Given the description of an element on the screen output the (x, y) to click on. 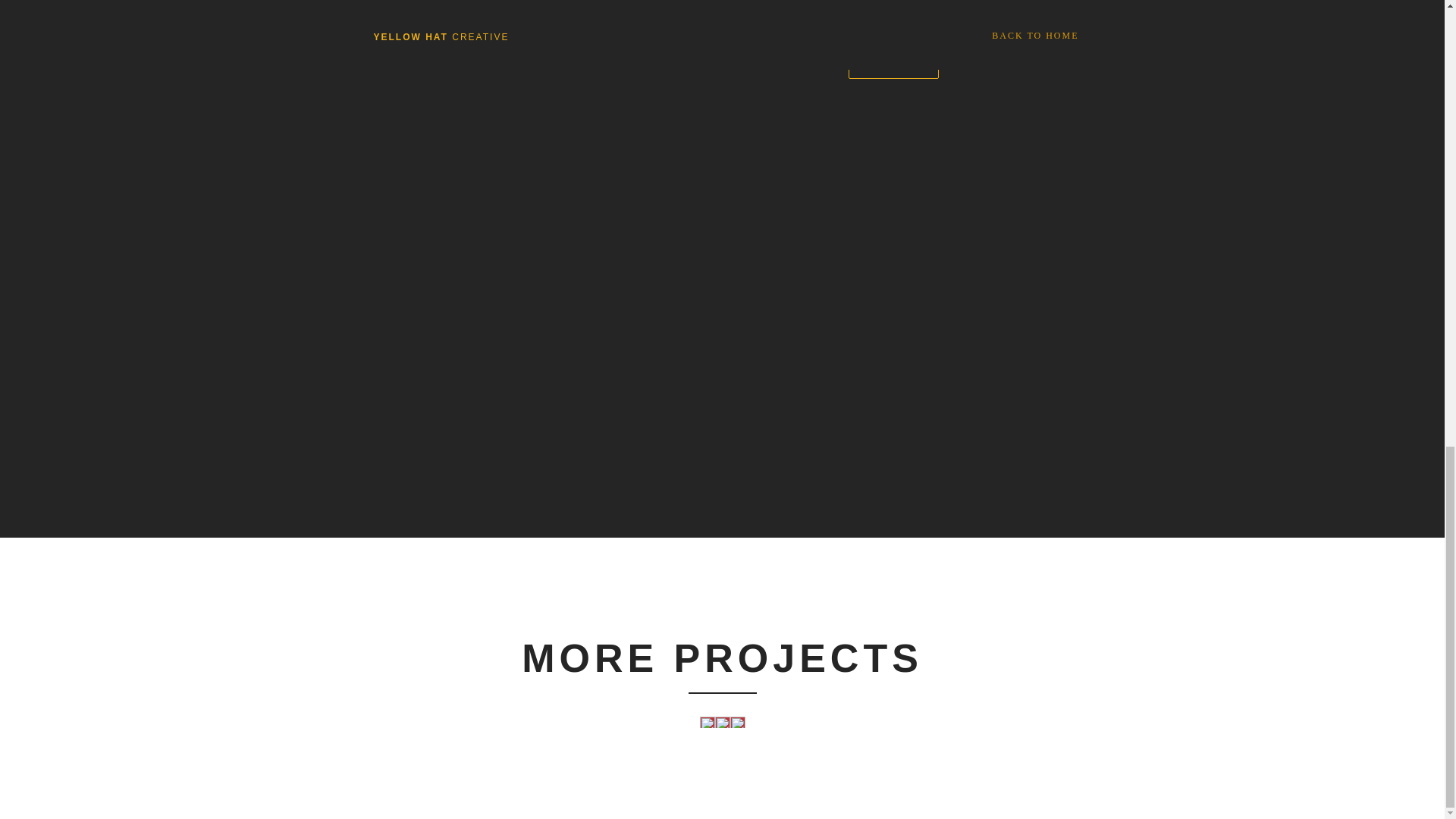
View Live (893, 63)
